Given the description of an element on the screen output the (x, y) to click on. 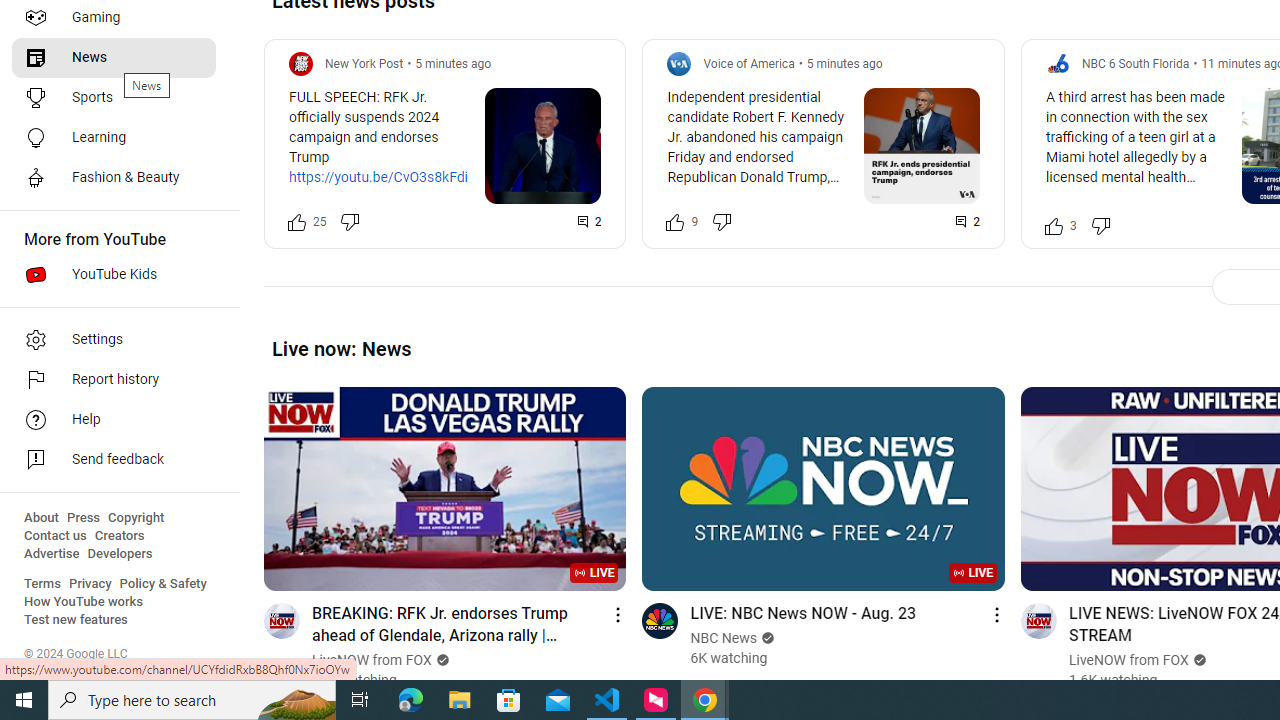
NBC News (724, 637)
News (113, 57)
Creators (118, 536)
New York Post (364, 63)
Like this post along with 3 other people (1053, 224)
YouTube Kids (113, 274)
Policy & Safety (163, 584)
Voice of America (748, 63)
https://youtu.be/CvO3s8kFdiU (383, 177)
Like this post along with 25 other people (297, 221)
Advertise (51, 554)
Copyright (136, 518)
